Given the description of an element on the screen output the (x, y) to click on. 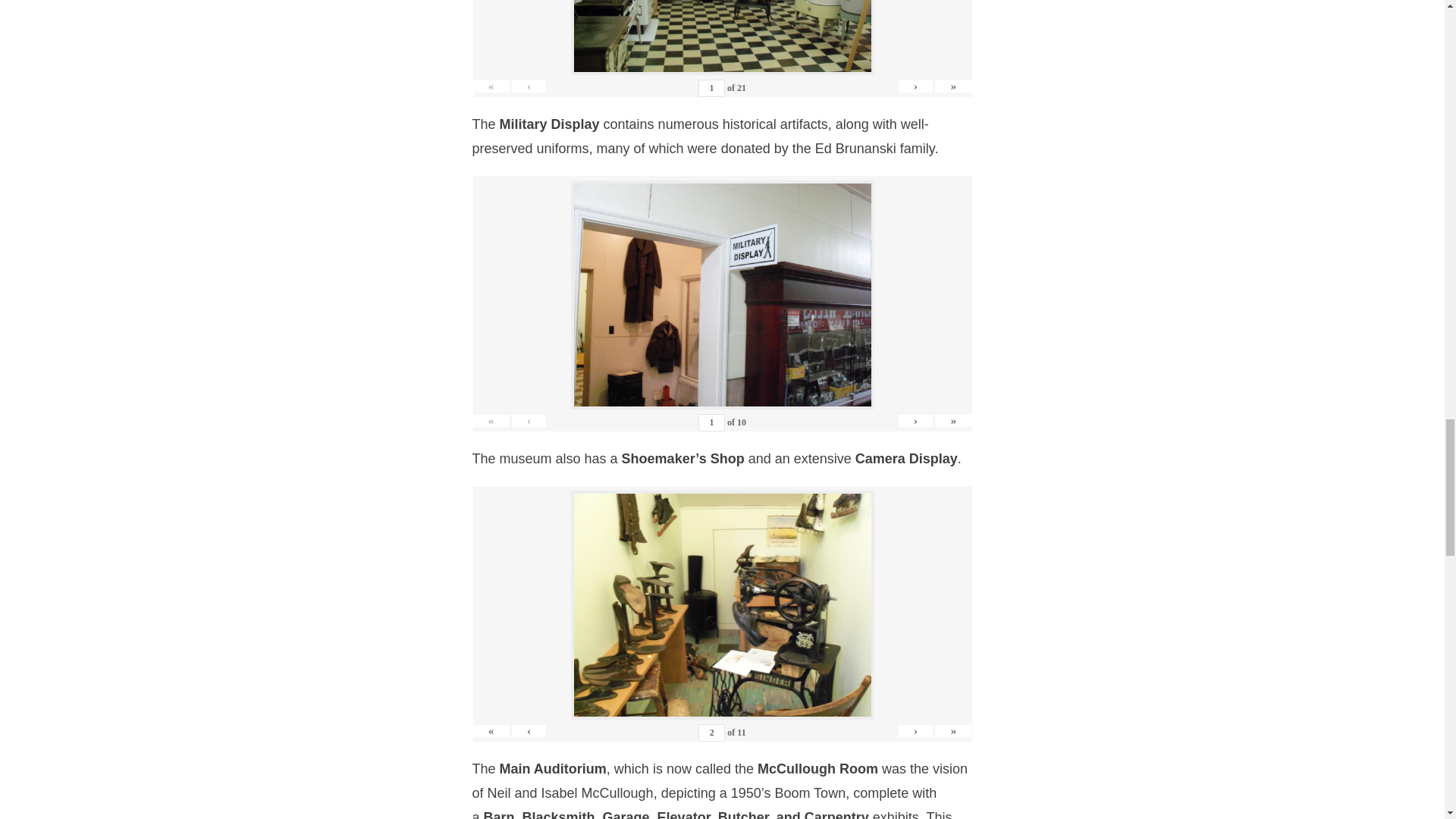
1 (711, 422)
1 (711, 88)
2 (711, 732)
